Given the description of an element on the screen output the (x, y) to click on. 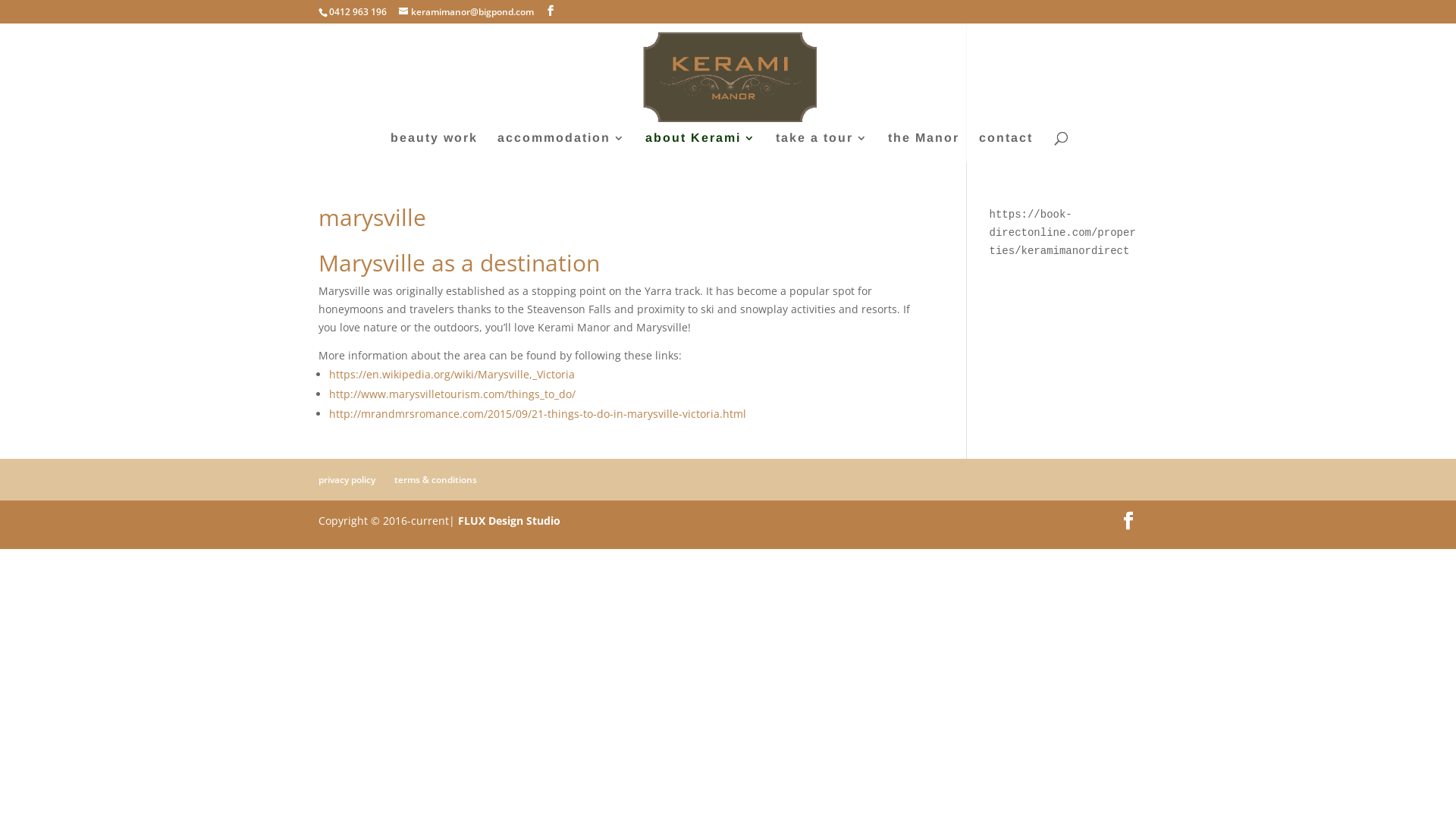
about Kerami Element type: text (699, 147)
http://www.marysvilletourism.com/things_to_do/ Element type: text (452, 393)
FLUX Design Studio Element type: text (509, 520)
https://en.wikipedia.org/wiki/Marysville,_Victoria Element type: text (451, 374)
keramimanor@bigpond.com Element type: text (465, 11)
the Manor Element type: text (922, 147)
contact Element type: text (1005, 147)
take a tour Element type: text (821, 147)
accommodation Element type: text (561, 147)
terms & conditions Element type: text (435, 479)
privacy policy Element type: text (346, 479)
beauty work Element type: text (432, 147)
